Given the description of an element on the screen output the (x, y) to click on. 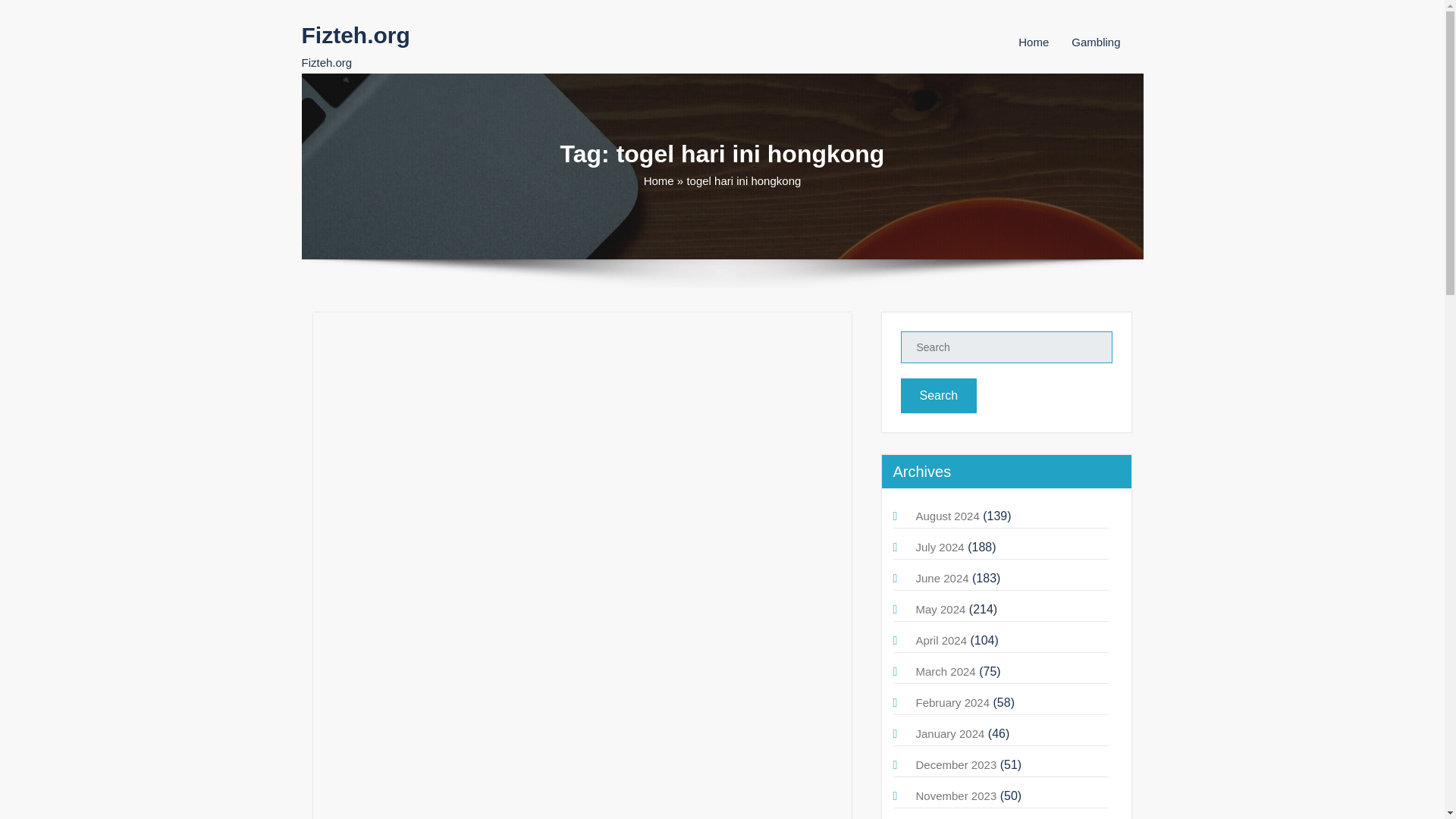
Search (938, 395)
February 2024 (952, 702)
August 2024 (947, 515)
May 2024 (940, 608)
togel (413, 386)
November 2023 (956, 795)
July 2024 (939, 546)
April 2024 (941, 640)
Home (1032, 41)
March 2024 (945, 671)
